Given the description of an element on the screen output the (x, y) to click on. 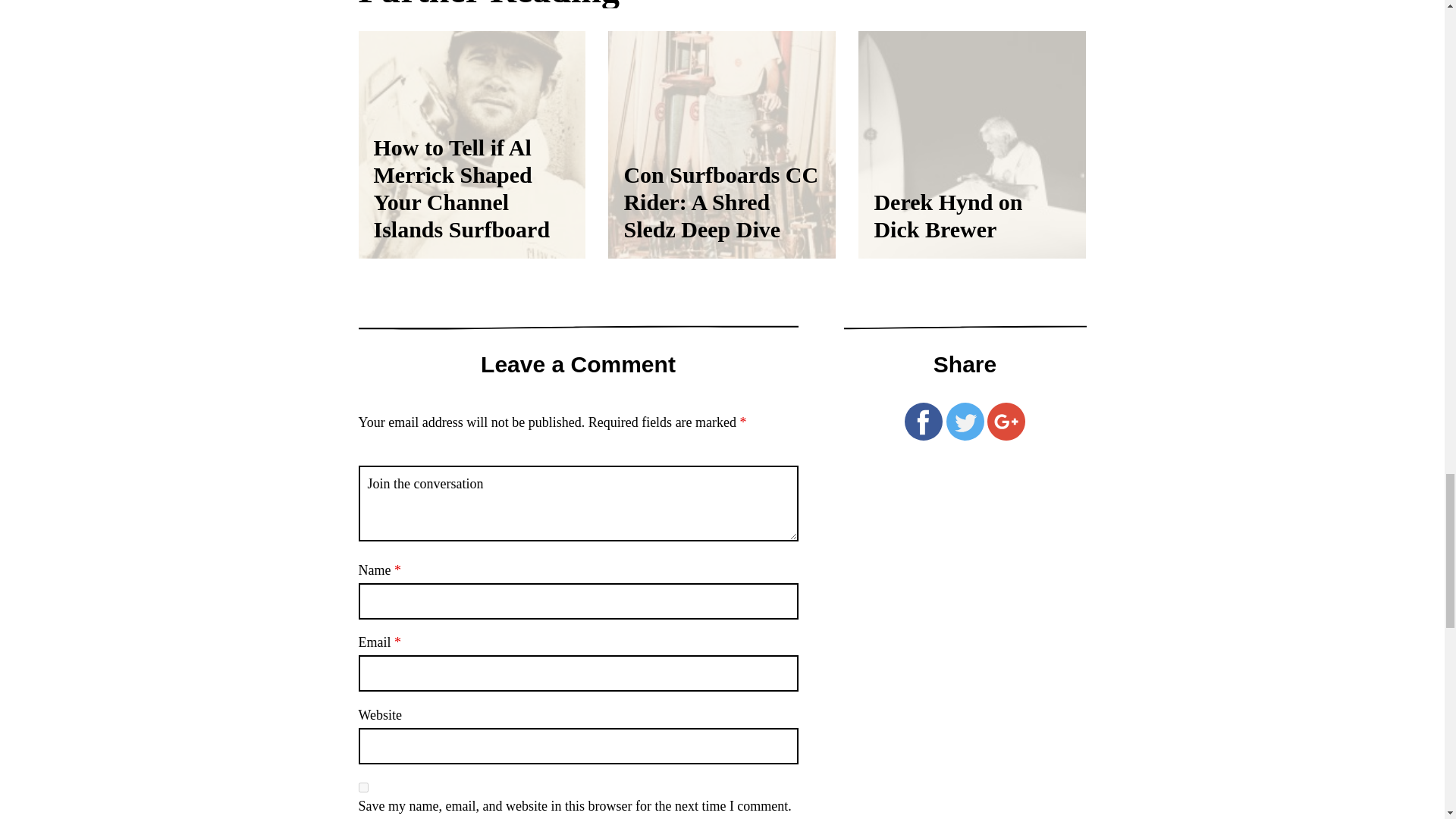
yes (363, 787)
Derek Hynd on Dick Brewer (972, 144)
Con Surfboards CC Rider: A Shred Sledz Deep Dive (721, 144)
